Given the description of an element on the screen output the (x, y) to click on. 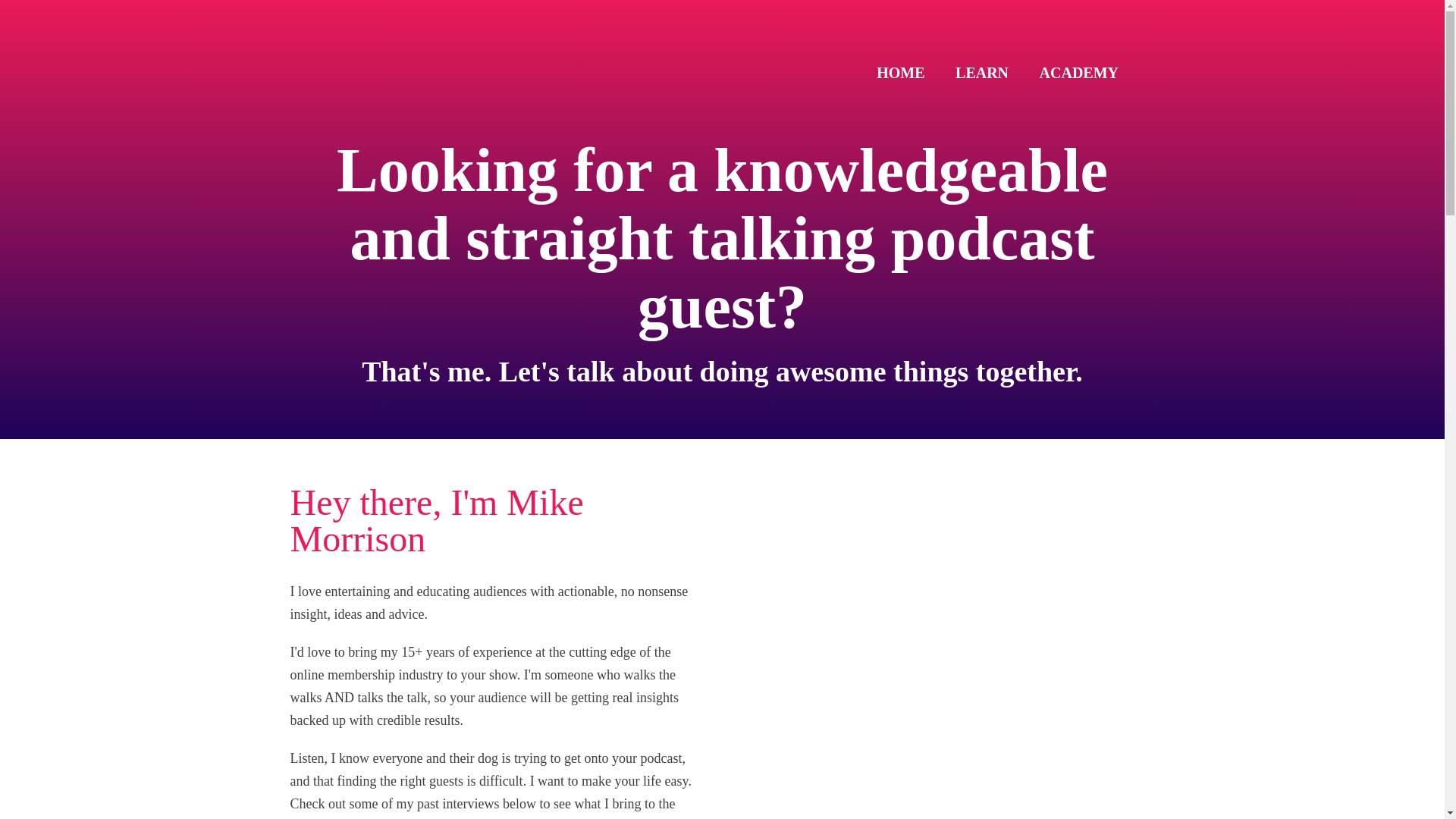
Membership Geeks (334, 64)
LEARN (982, 75)
ACADEMY (1078, 75)
HOME (900, 75)
